Given the description of an element on the screen output the (x, y) to click on. 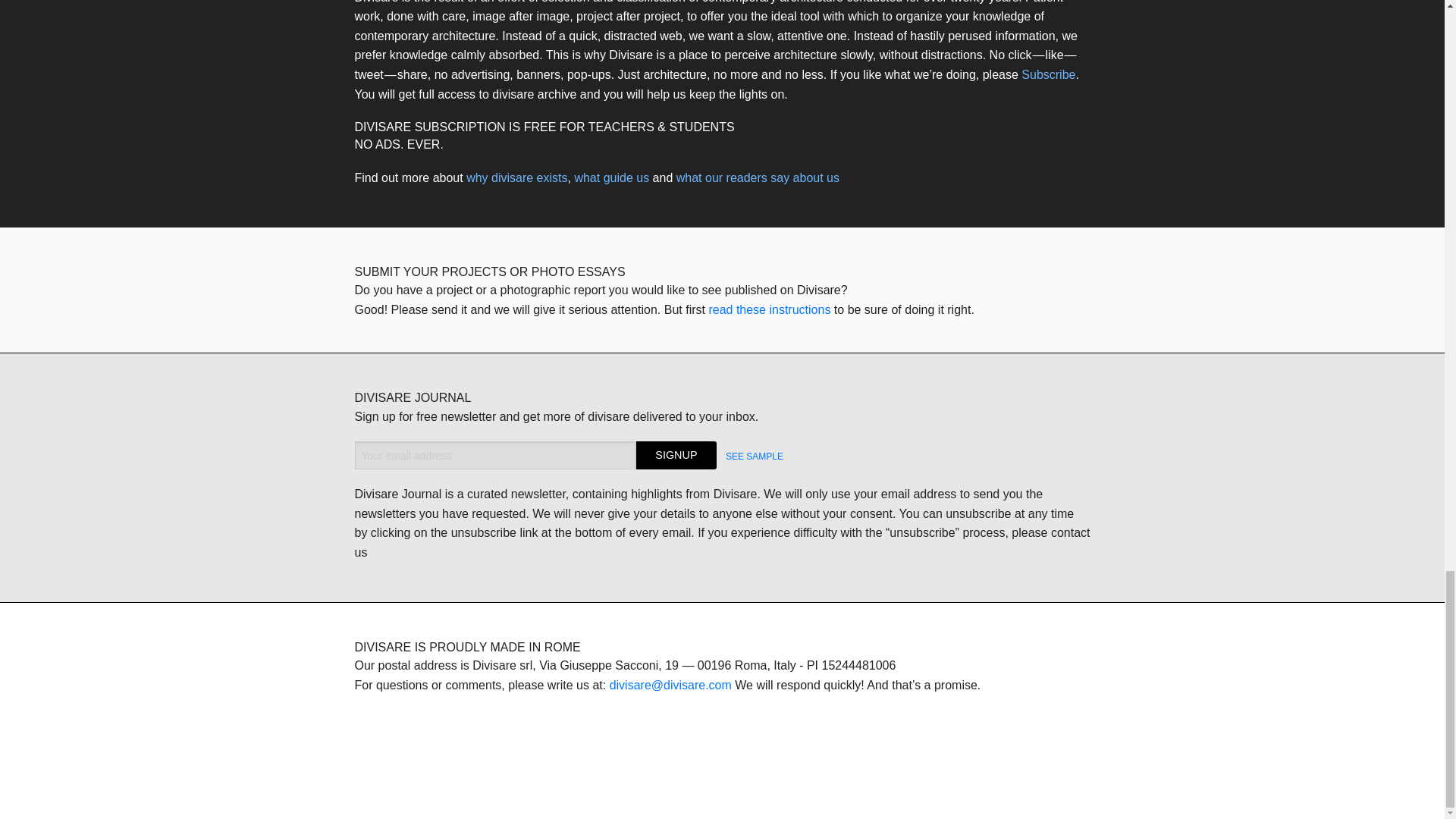
Signup (676, 455)
